Given the description of an element on the screen output the (x, y) to click on. 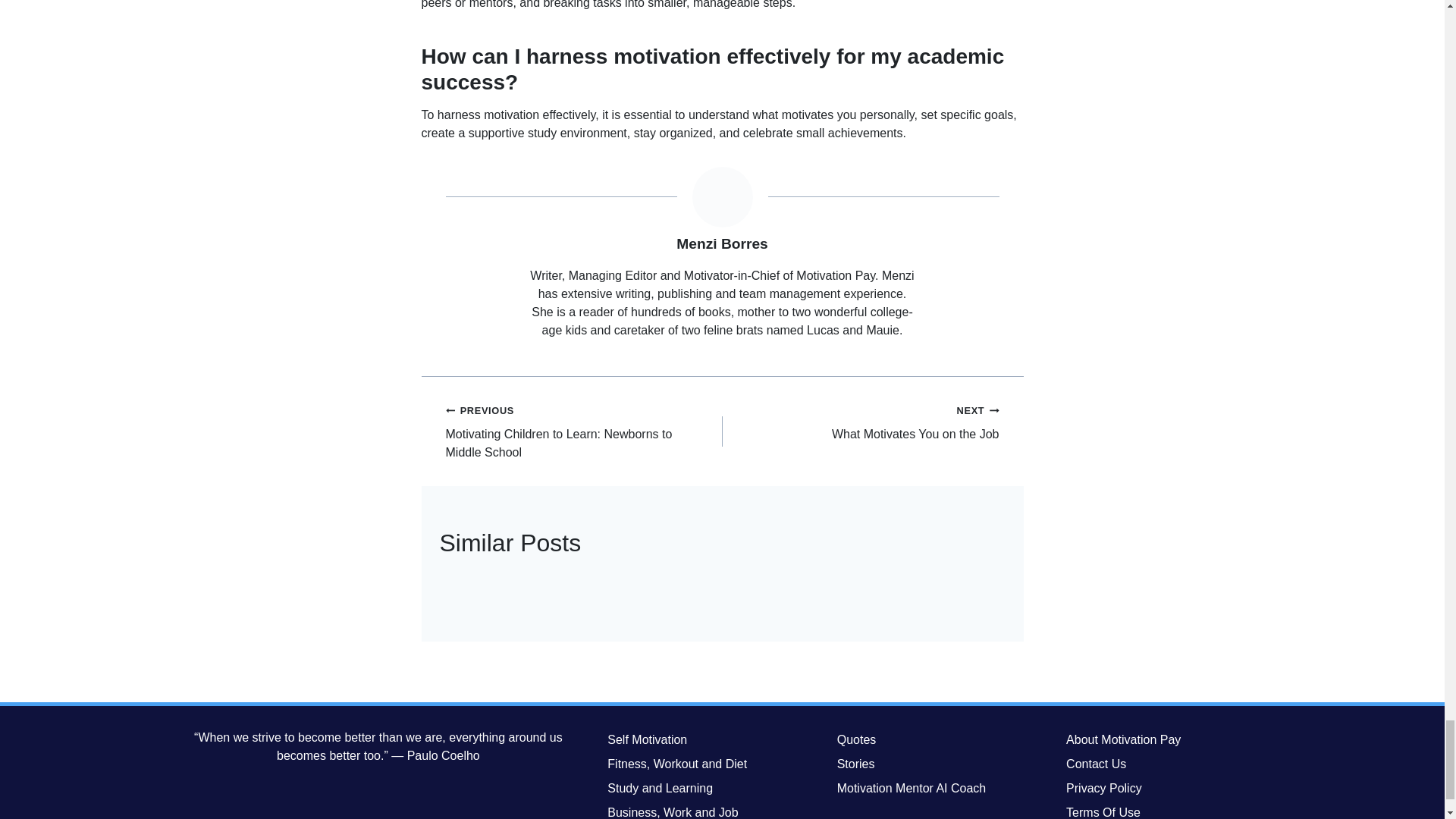
Menzi Borres (722, 243)
Posts by Menzi Borres (722, 243)
